Given the description of an element on the screen output the (x, y) to click on. 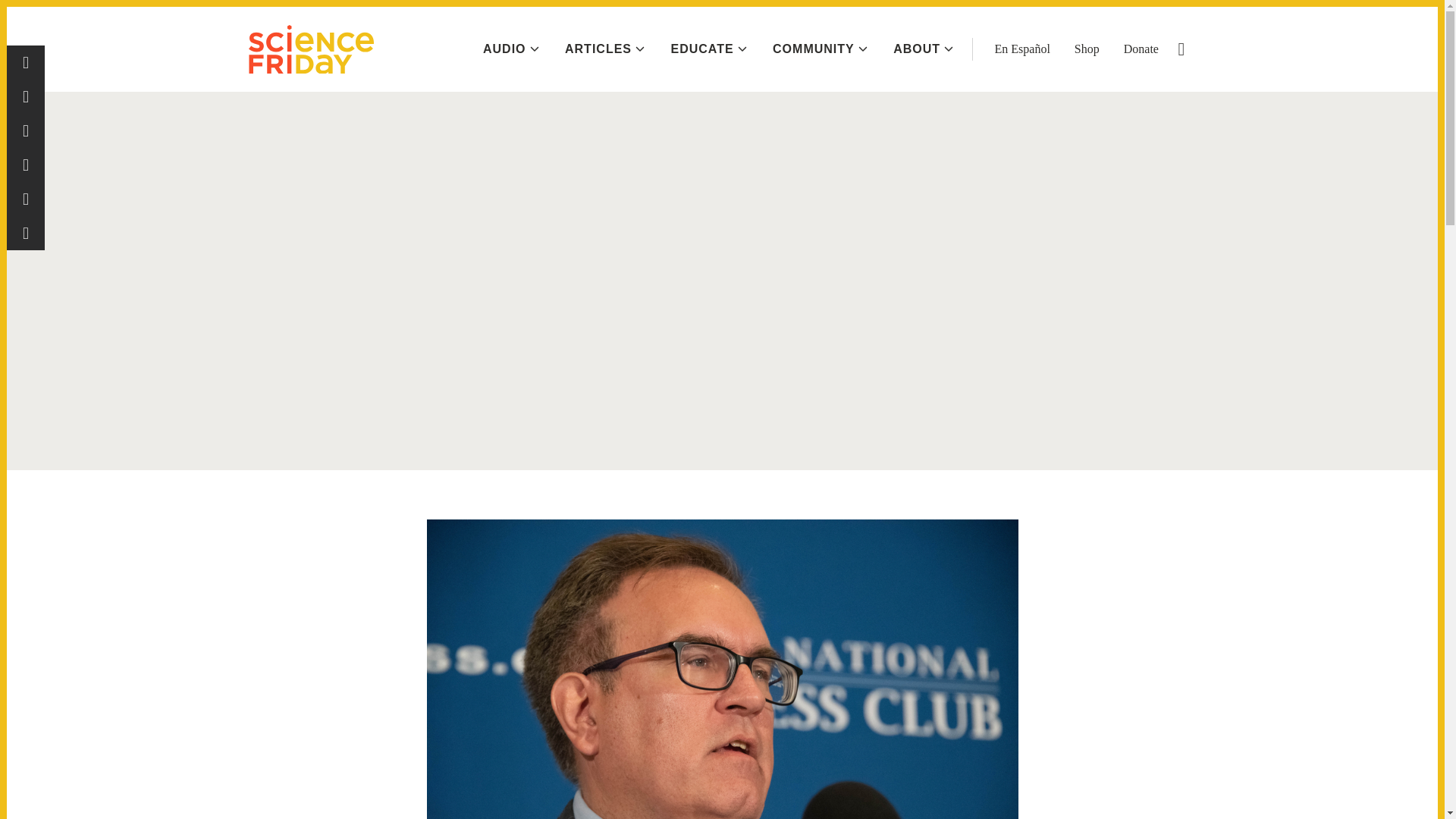
LinkedIn (26, 198)
AUDIO (510, 48)
Threads (26, 96)
LATEST EPISODE (1360, 20)
Facebook (26, 62)
Twitter (26, 130)
ABOUT (923, 48)
Email (26, 233)
COMMUNITY (820, 48)
Bluesky (26, 164)
